Given the description of an element on the screen output the (x, y) to click on. 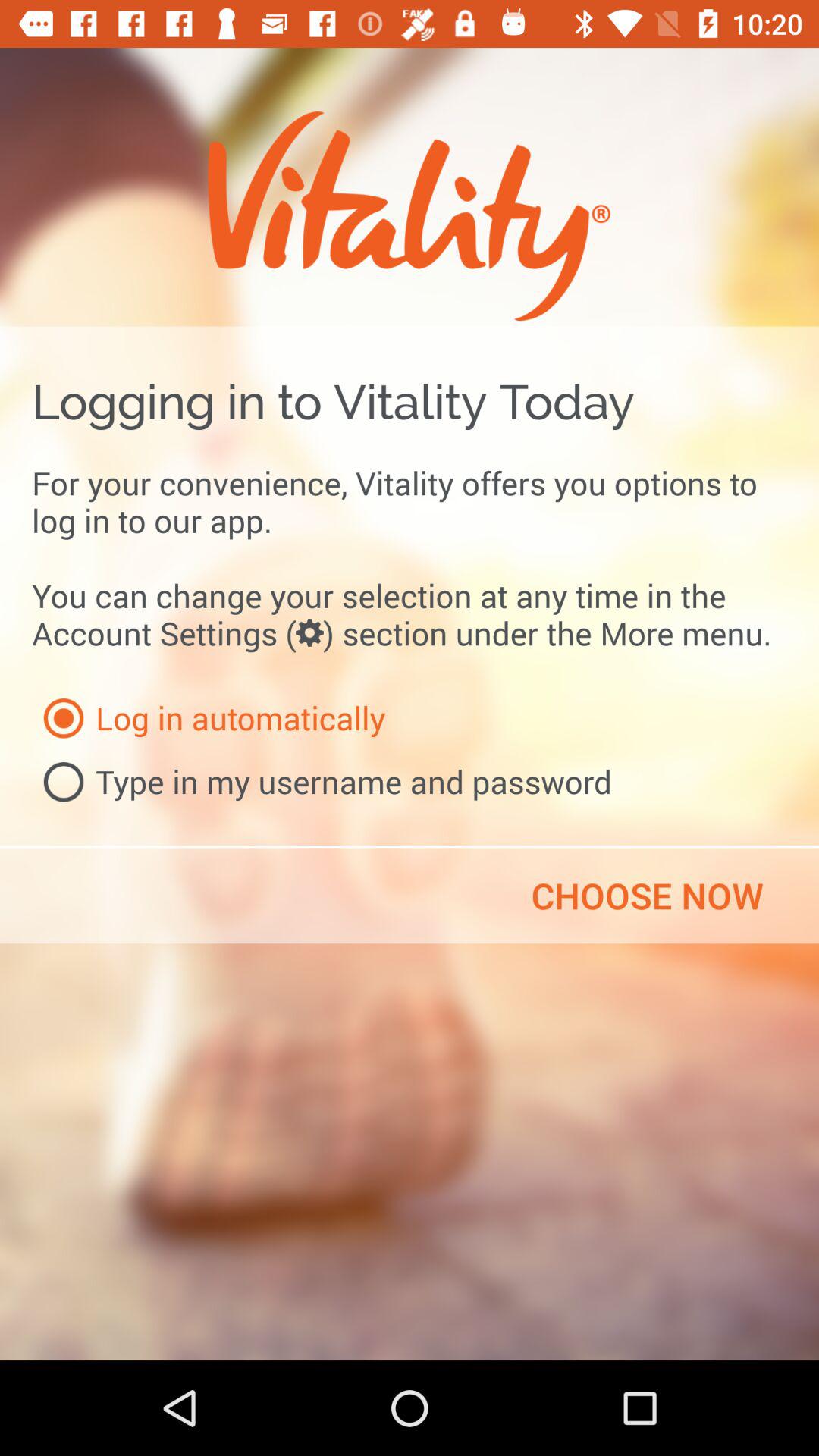
turn on the icon below log in automatically item (321, 781)
